Given the description of an element on the screen output the (x, y) to click on. 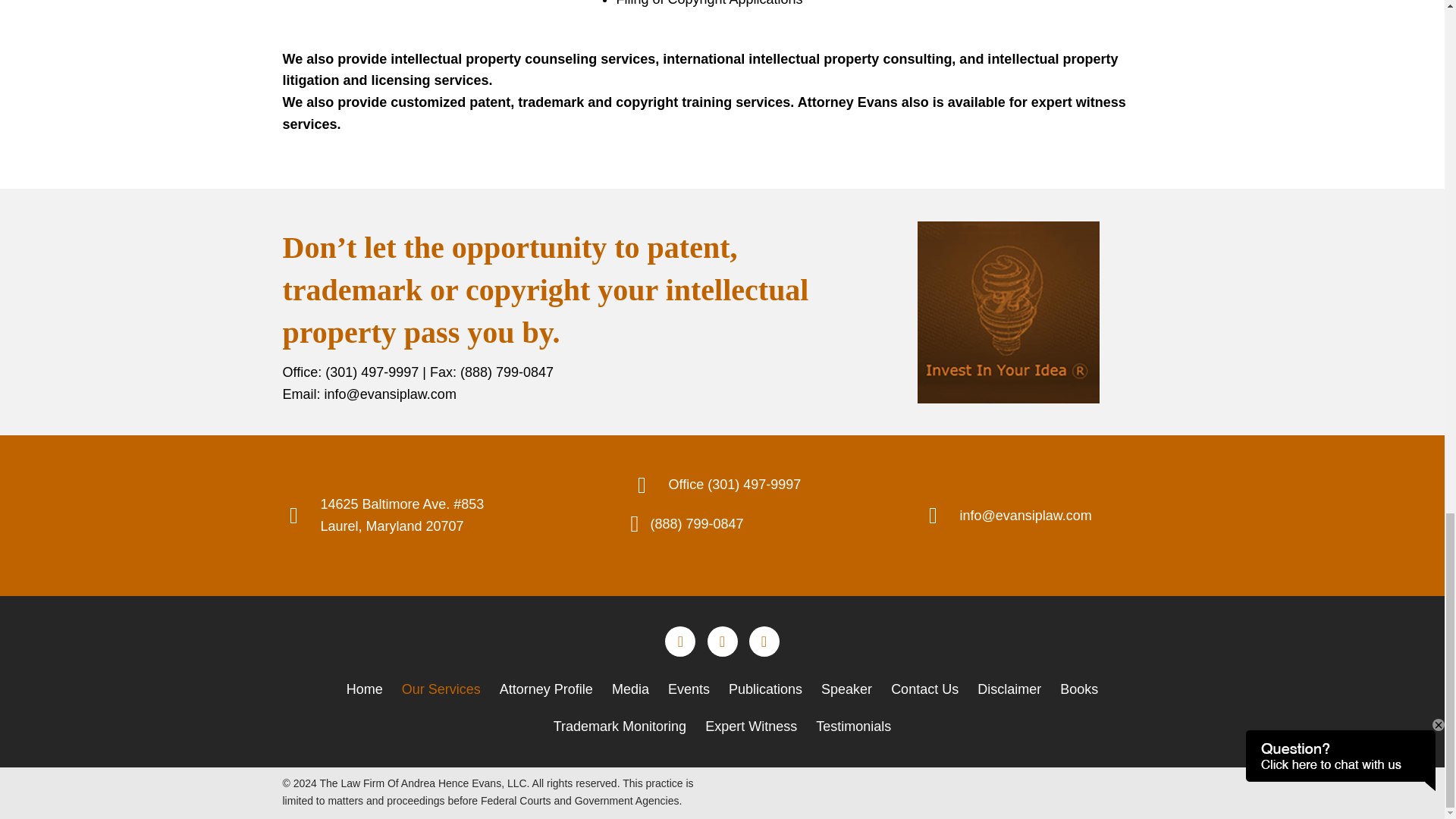
Facebook (680, 641)
Instagram (763, 641)
Twitter (721, 641)
